Given the description of an element on the screen output the (x, y) to click on. 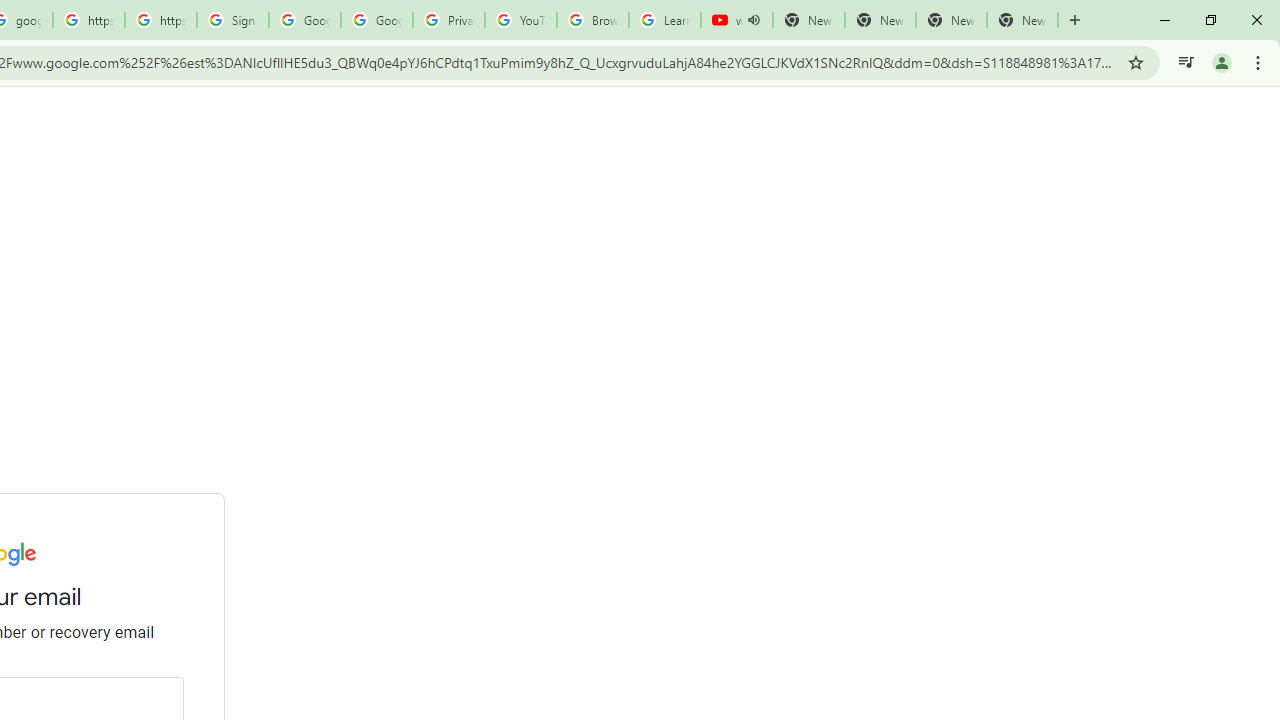
New Tab (1022, 20)
